Given the description of an element on the screen output the (x, y) to click on. 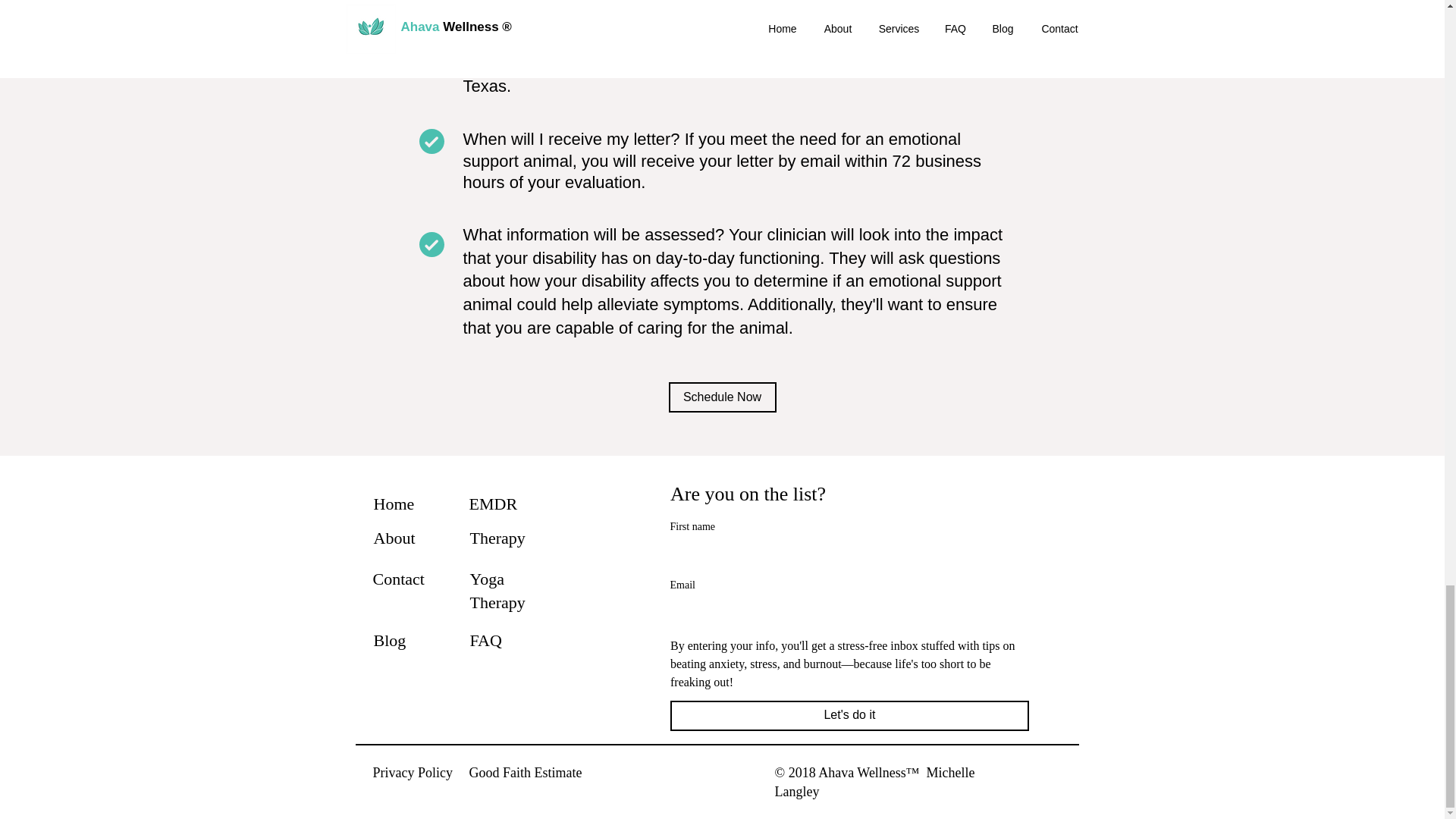
Let's do it (849, 716)
Blog (389, 640)
Schedule Now (722, 397)
FAQ (486, 640)
EMDR (492, 503)
Contact (398, 578)
Good Faith Estimate (524, 772)
About (393, 537)
Yoga Therapy (497, 590)
Therapy (497, 537)
